Given the description of an element on the screen output the (x, y) to click on. 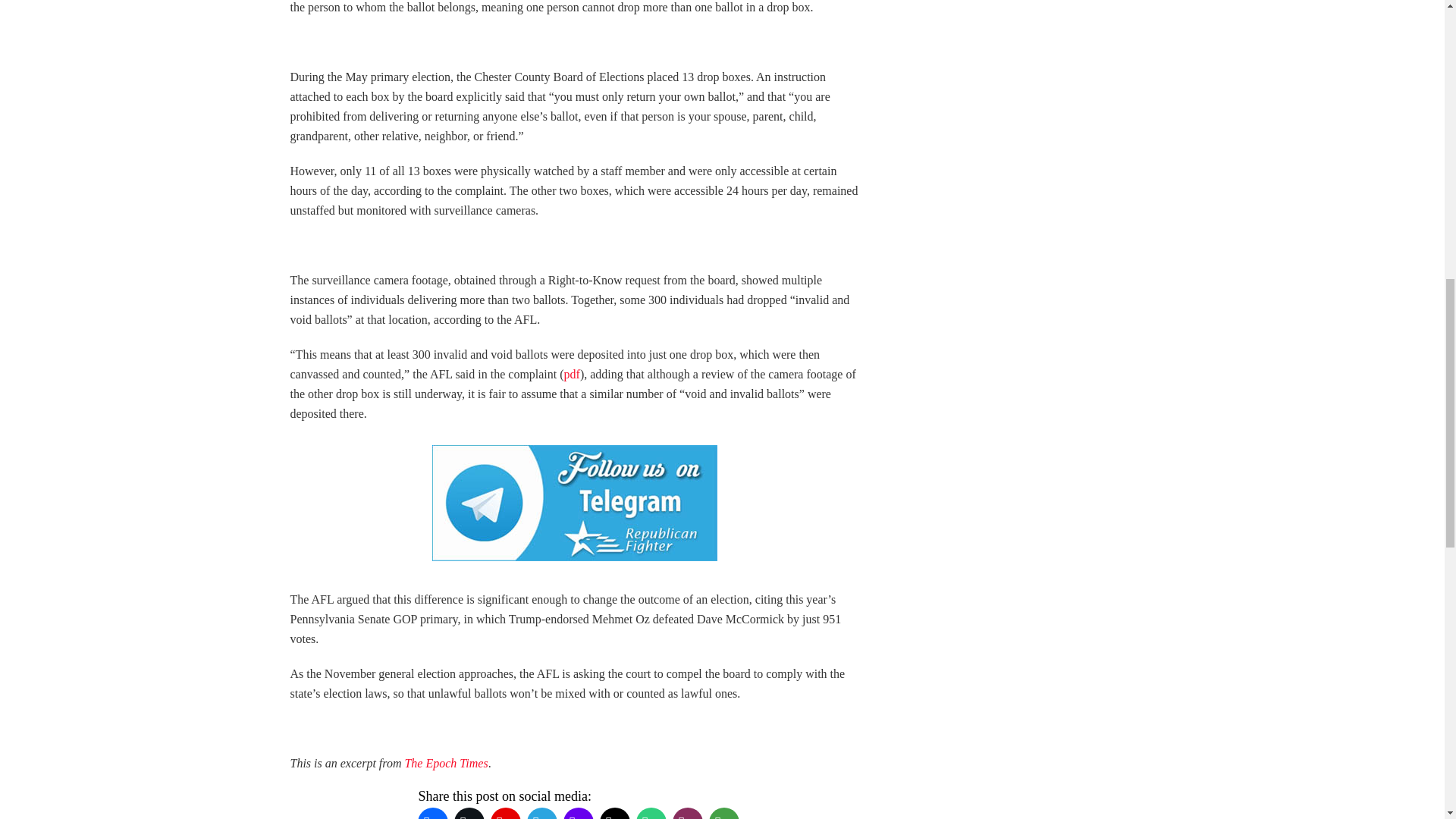
GETTR (504, 811)
Facebook (431, 811)
Threads (613, 811)
pdf (571, 373)
Telegram (540, 811)
Gab (649, 811)
Truth Social (577, 811)
